Given the description of an element on the screen output the (x, y) to click on. 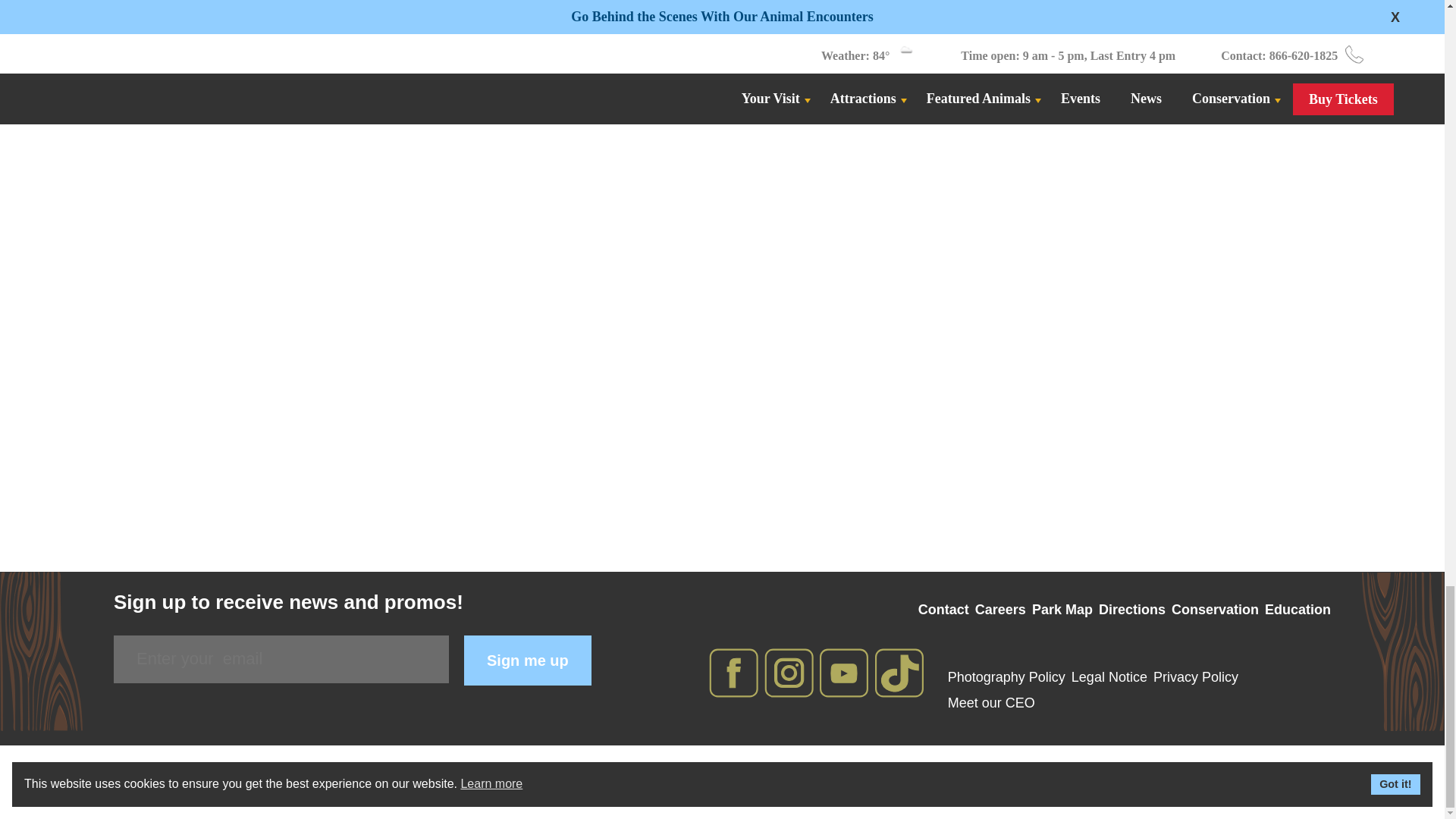
Sign me up (527, 660)
